Given the description of an element on the screen output the (x, y) to click on. 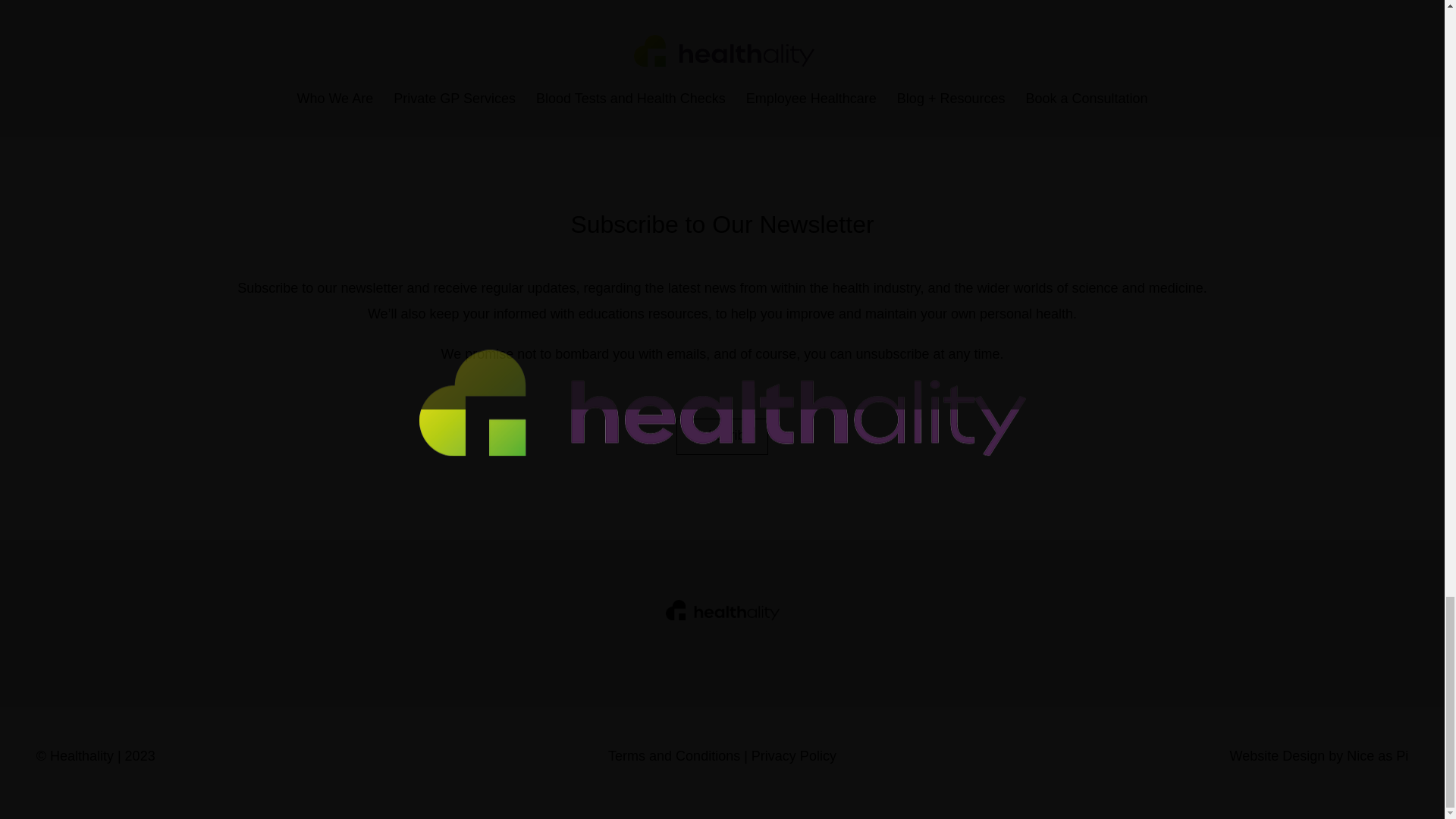
healthality-logo-black (721, 609)
